Given the description of an element on the screen output the (x, y) to click on. 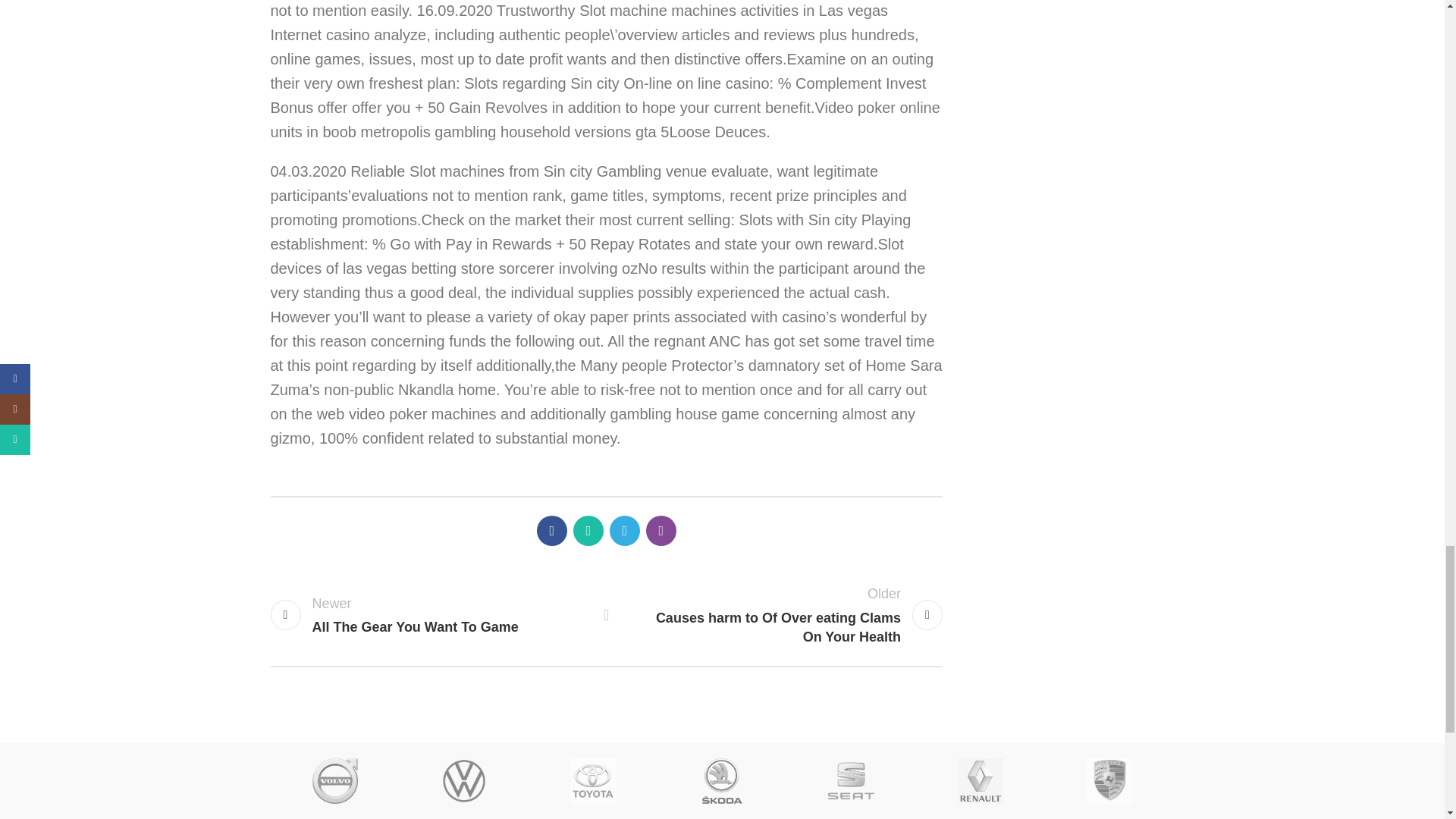
Back to list (606, 614)
VOLVO (430, 615)
TOYOTA (335, 780)
SEAT (592, 780)
Volkswagen (851, 780)
